Given the description of an element on the screen output the (x, y) to click on. 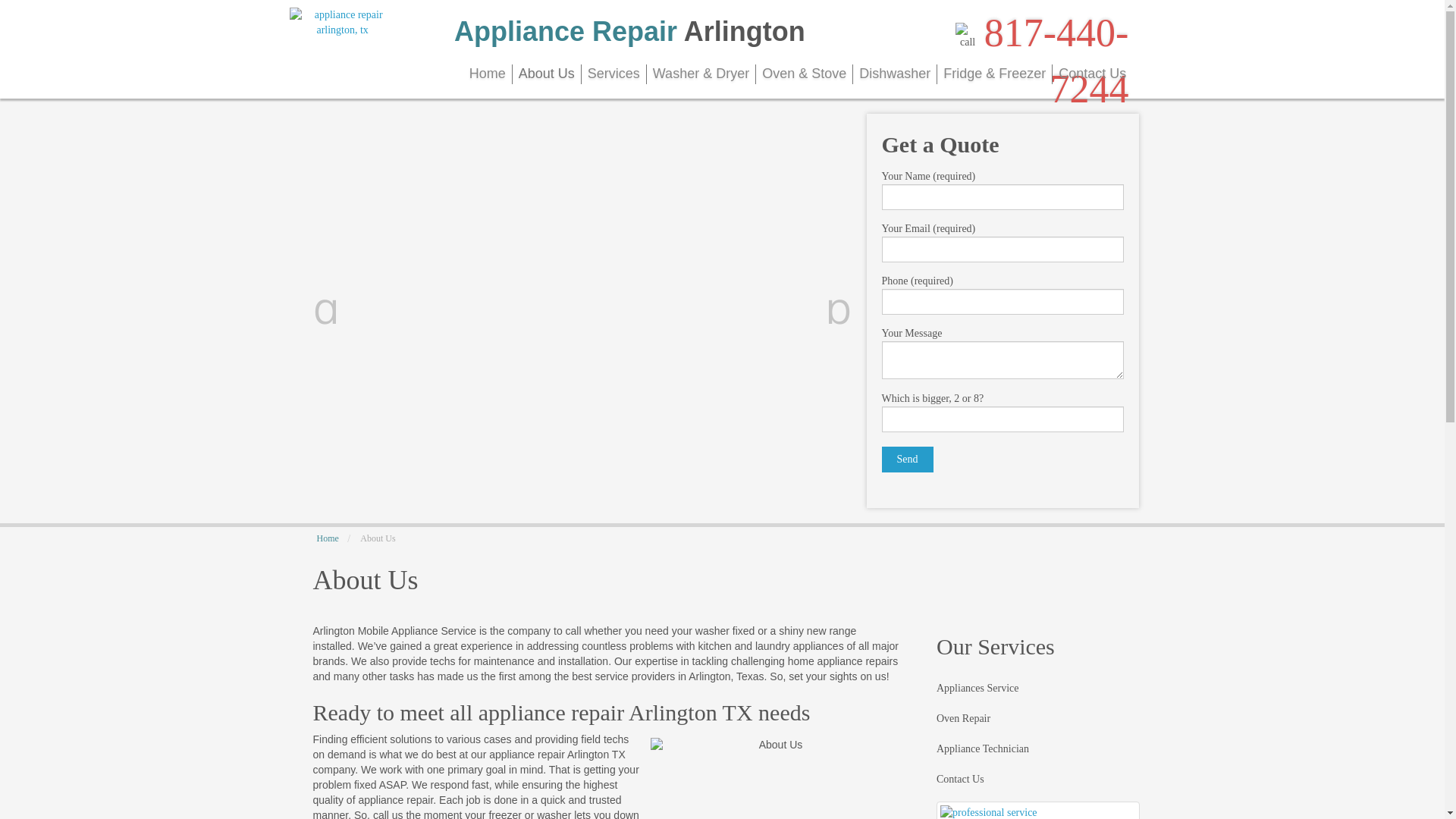
817-440-7244 (1056, 60)
Home (487, 74)
Oven Repair (963, 718)
Send (906, 459)
Home (328, 538)
Send (906, 459)
Appliances Service (976, 688)
Appliance Technician (982, 748)
Services (613, 74)
About Us (546, 74)
Contact Us (960, 779)
Contact Us (1092, 74)
Dishwasher (895, 74)
